Given the description of an element on the screen output the (x, y) to click on. 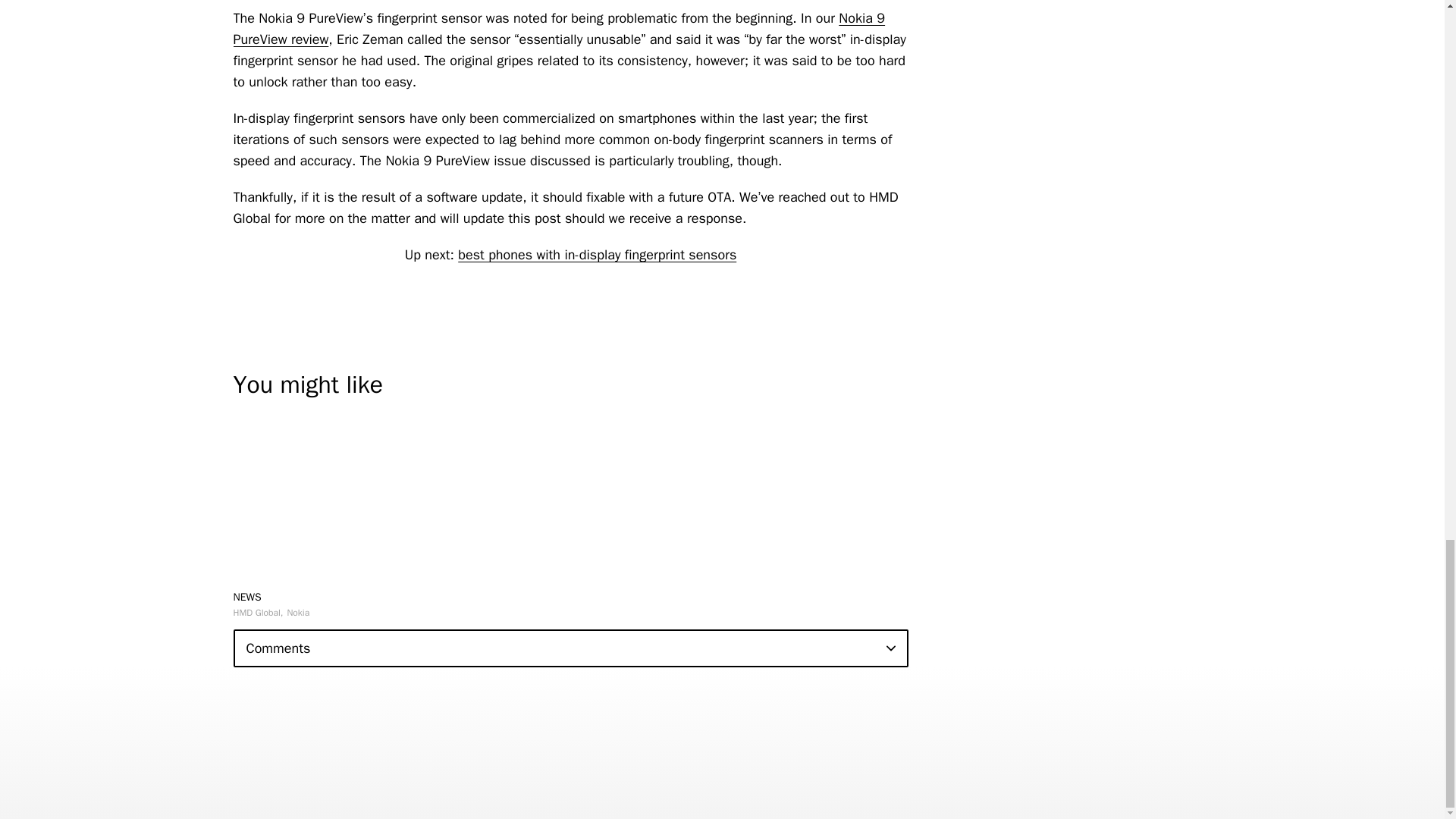
HMD Global (257, 612)
Nokia 9 PureView review (558, 28)
best phones with in-display fingerprint sensors (597, 254)
NEWS (247, 596)
Nokia (297, 612)
Comments (570, 648)
